Given the description of an element on the screen output the (x, y) to click on. 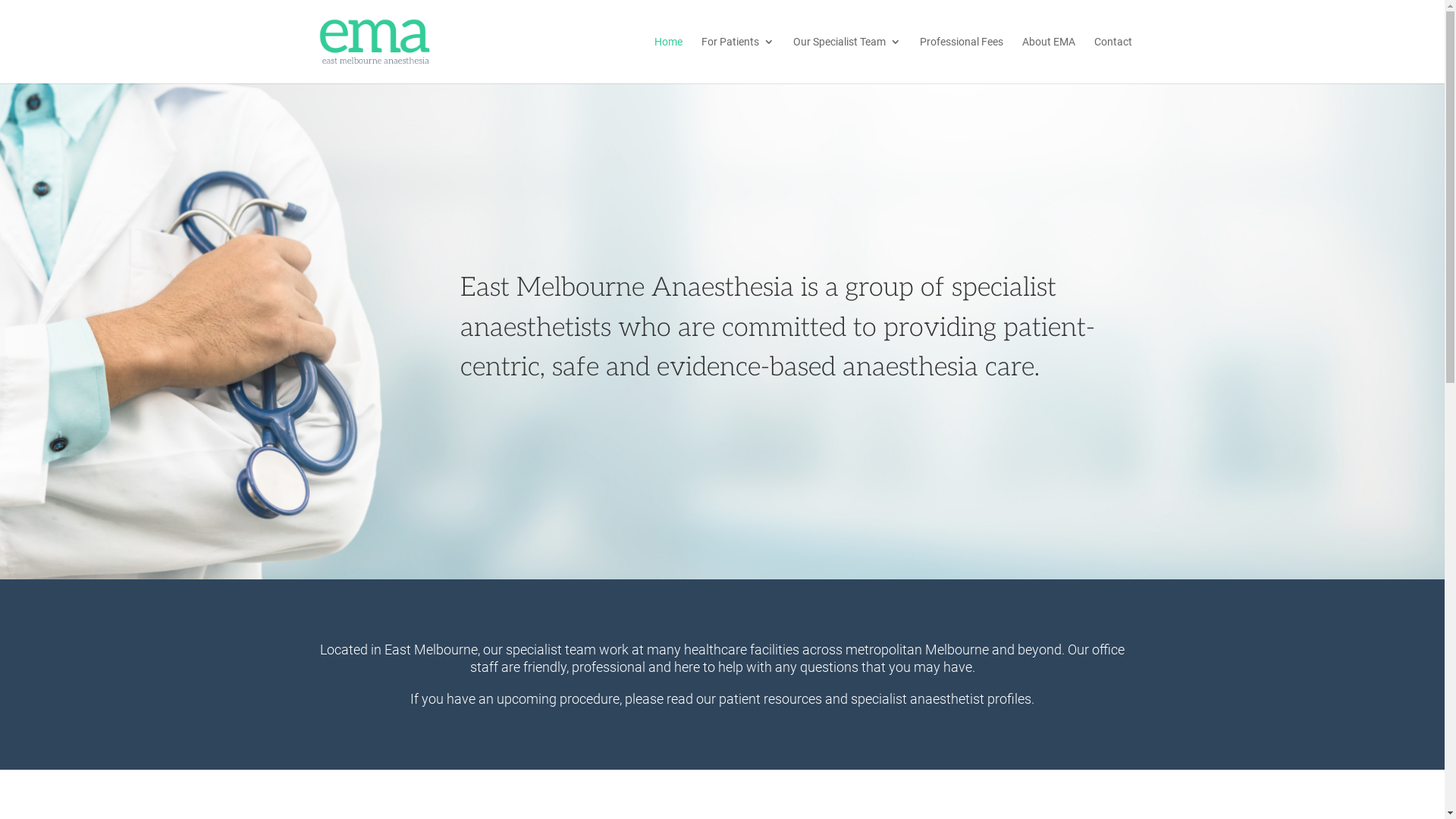
Our Specialist Team Element type: text (846, 59)
Contact Element type: text (1112, 59)
For Patients Element type: text (736, 59)
Home Element type: text (667, 59)
About EMA Element type: text (1048, 59)
Professional Fees Element type: text (960, 59)
